Given the description of an element on the screen output the (x, y) to click on. 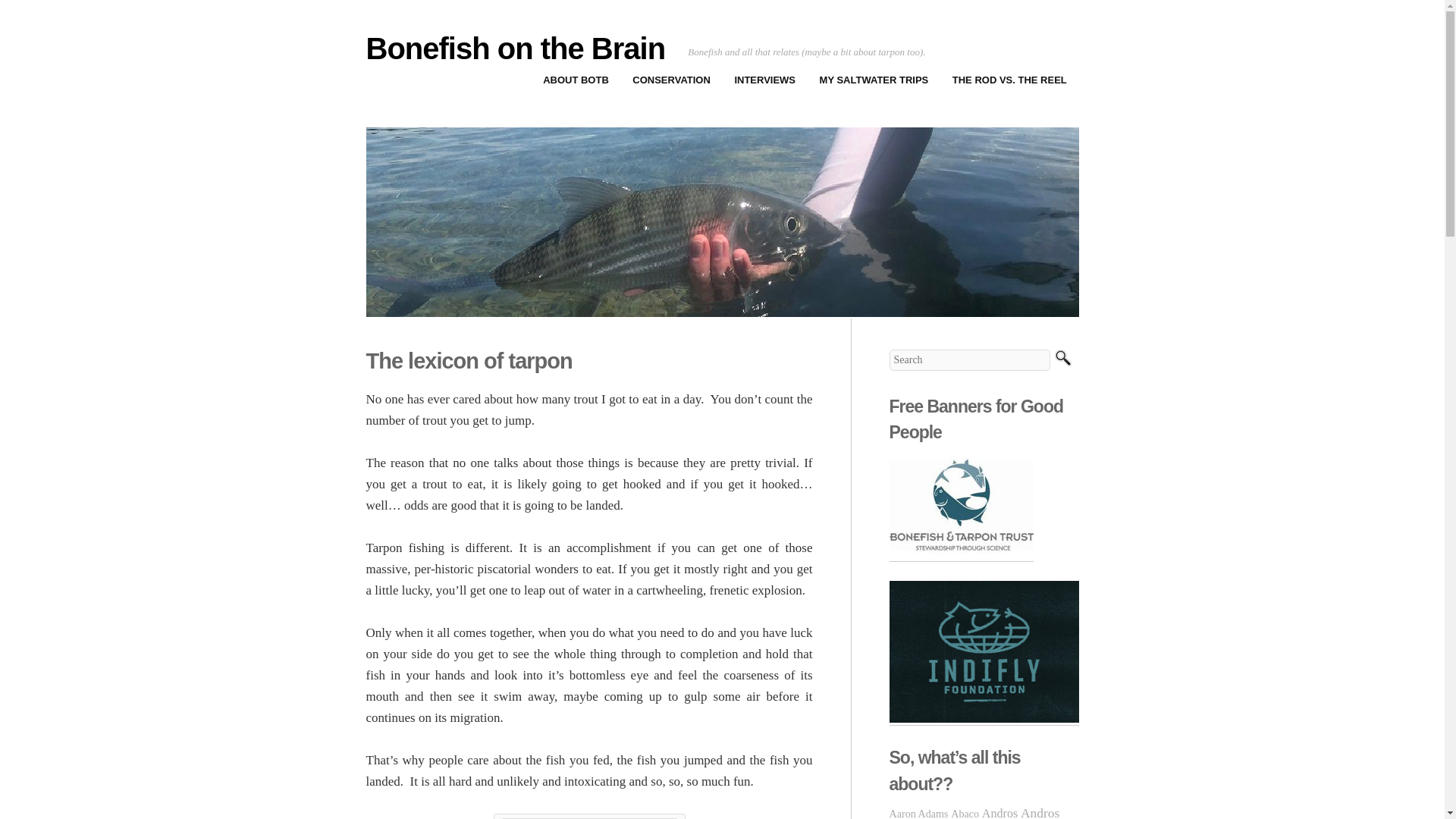
Search (1061, 359)
ABOUT BOTB (575, 79)
MY SALTWATER TRIPS (874, 79)
Bonefish on the Brain (515, 48)
CONSERVATION (671, 79)
INTERVIEWS (765, 79)
Bonefish on the Brain (515, 48)
THE ROD VS. THE REEL (1009, 79)
